Given the description of an element on the screen output the (x, y) to click on. 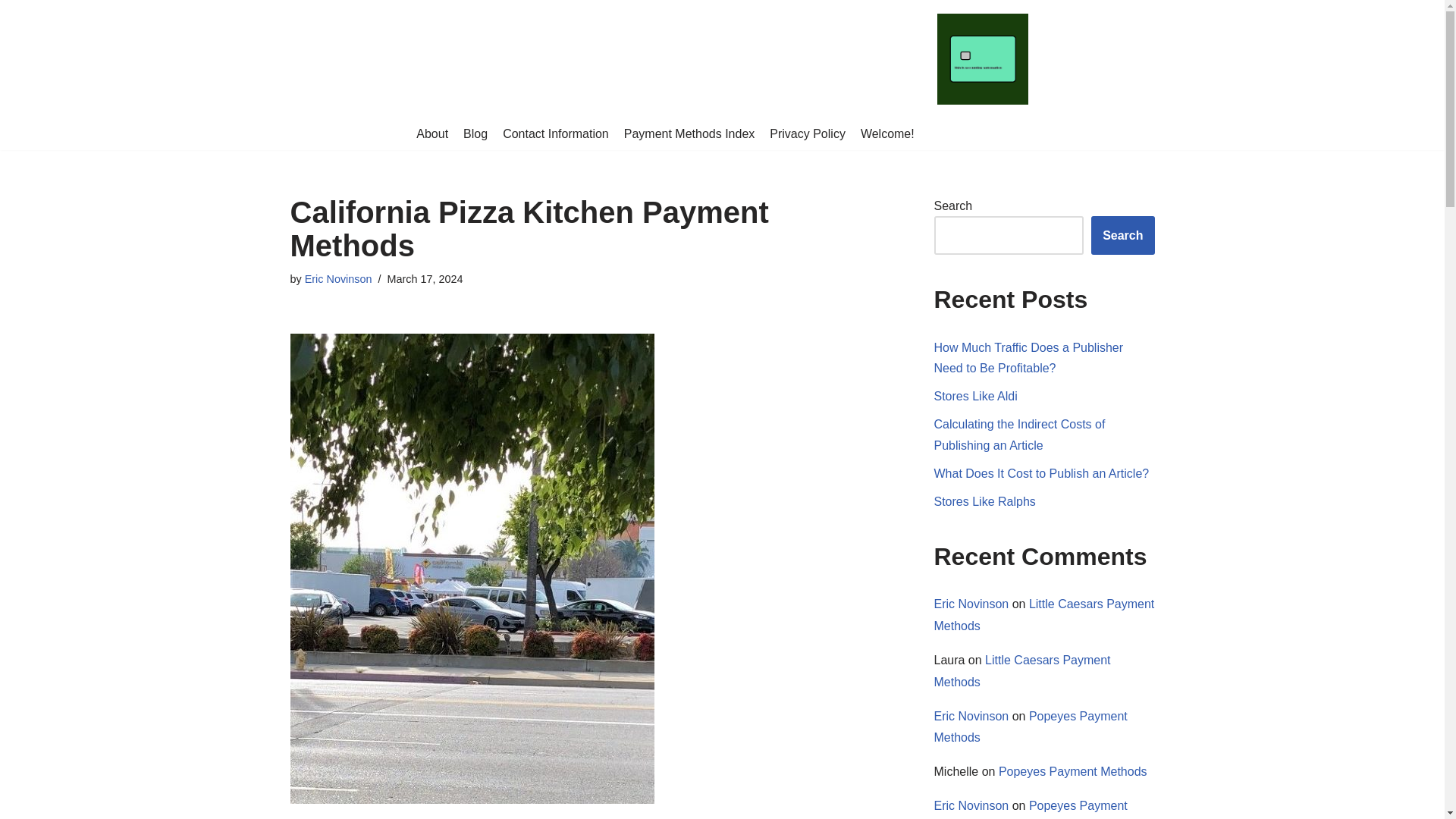
Contact Information (555, 134)
What Does It Cost to Publish an Article? (1042, 472)
Stores Like Ralphs (984, 501)
About (432, 134)
Welcome! (887, 134)
Skip to content (11, 31)
Search (1122, 235)
Stores Like Aldi (975, 395)
Posts by Eric Novinson (338, 278)
Popeyes Payment Methods (1072, 771)
Eric Novinson (971, 603)
Calculating the Indirect Costs of Publishing an Article (1019, 434)
Eric Novinson (971, 716)
Popeyes Payment Methods (1030, 727)
Eric Novinson (971, 805)
